Given the description of an element on the screen output the (x, y) to click on. 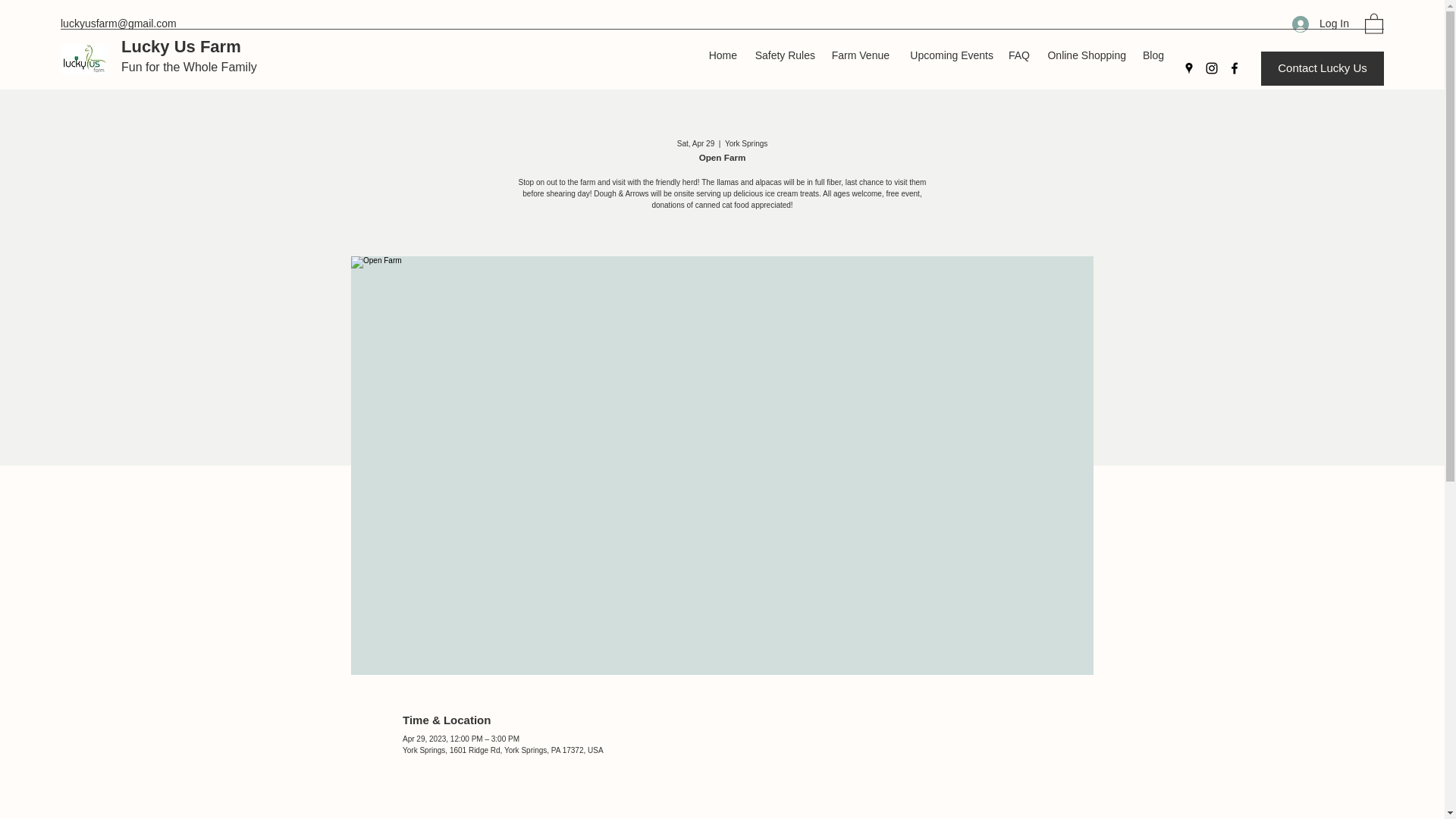
Safety Rules (783, 55)
FAQ (1018, 55)
Contact Lucky Us (1322, 68)
Home (722, 55)
Online Shopping (1084, 55)
Lucky Us Farm (180, 46)
Blog (1153, 55)
Log In (1320, 23)
Farm Venue (859, 55)
Upcoming Events (948, 55)
